Given the description of an element on the screen output the (x, y) to click on. 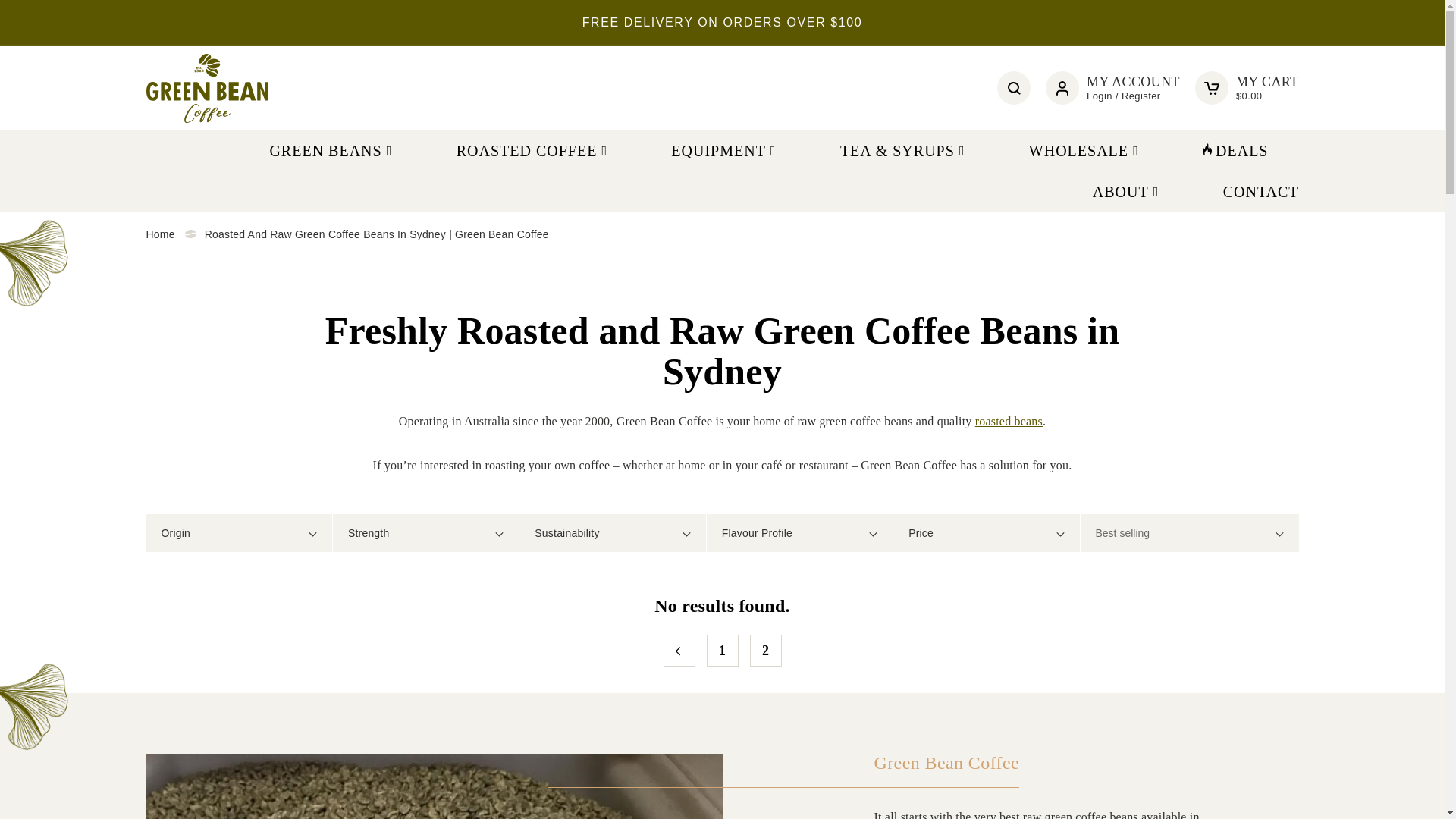
cart (1212, 87)
search (1013, 88)
coffee-green-beans (433, 786)
Skip to content (73, 17)
EQUIPMENT (724, 150)
GREEN BEANS (331, 150)
ROASTED COFFEE (534, 150)
